Given the description of an element on the screen output the (x, y) to click on. 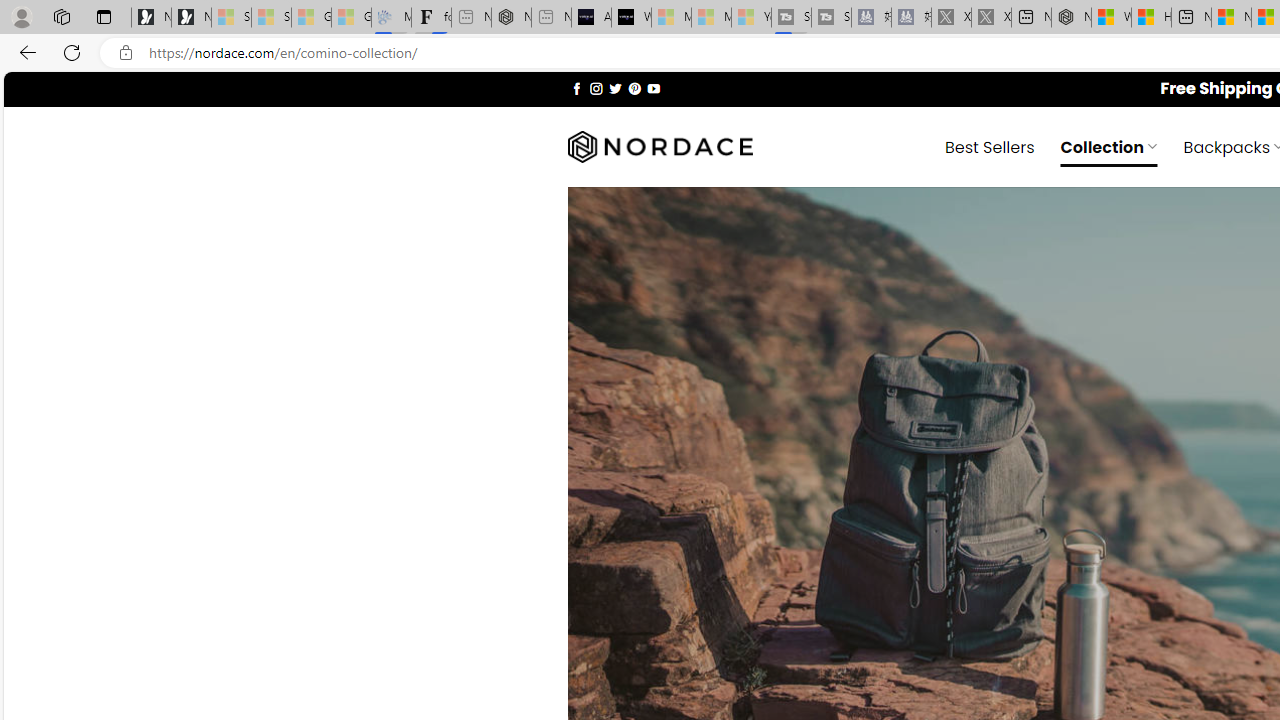
Nordace - #1 Japanese Best-Seller - Siena Smart Backpack (511, 17)
Huge shark washes ashore at New York City beach | Watch (1151, 17)
Follow on YouTube (653, 88)
Nordace - My Account (1071, 17)
Streaming Coverage | T3 - Sleeping (791, 17)
